Given the description of an element on the screen output the (x, y) to click on. 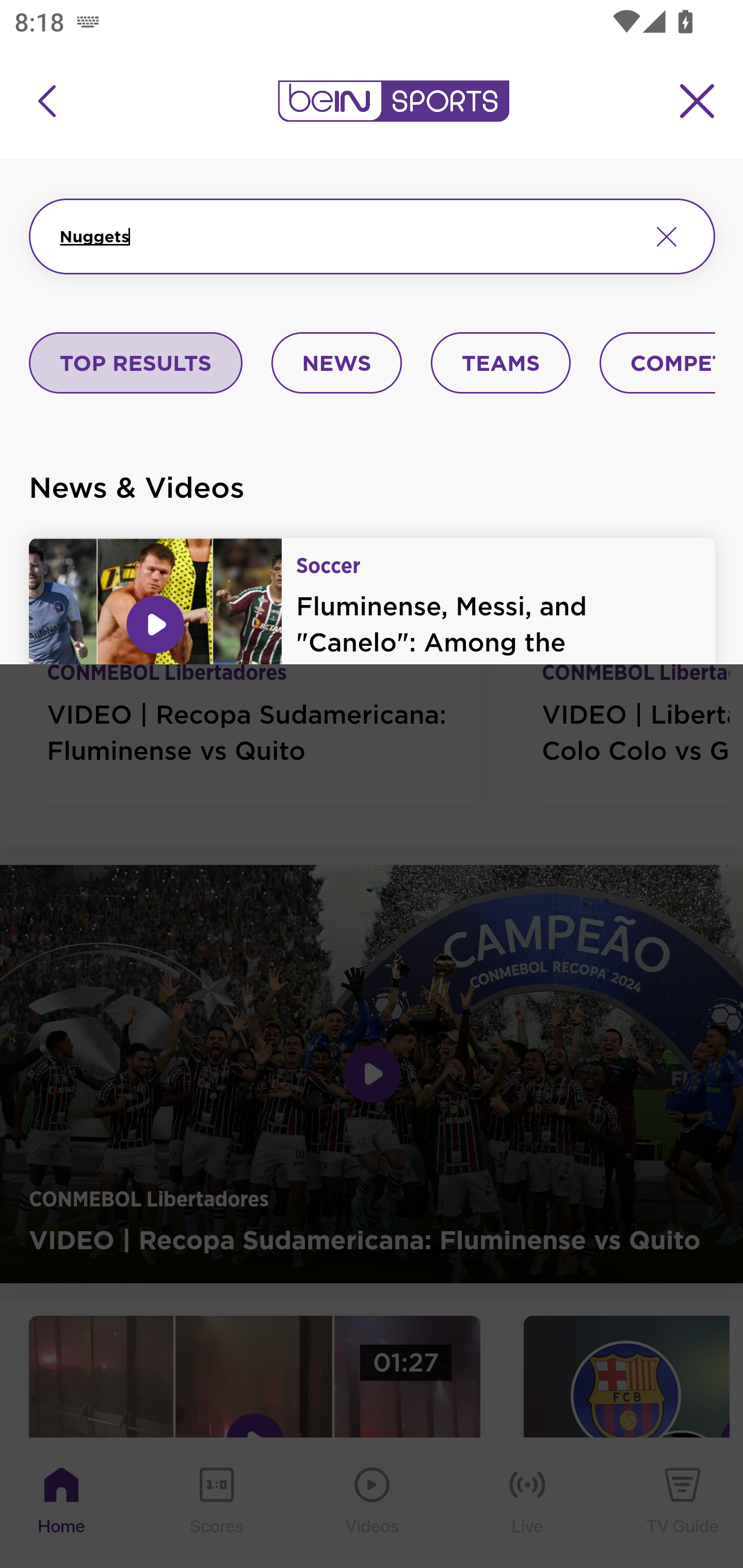
en-us?platform=mobile_android bein logo (392, 101)
icon back (46, 101)
Close Menu Icon (697, 101)
Nuggets (346, 235)
TOP RESULTS (135, 363)
NEWS (336, 363)
TEAMS (500, 363)
COMPETITIONS (657, 363)
